Given the description of an element on the screen output the (x, y) to click on. 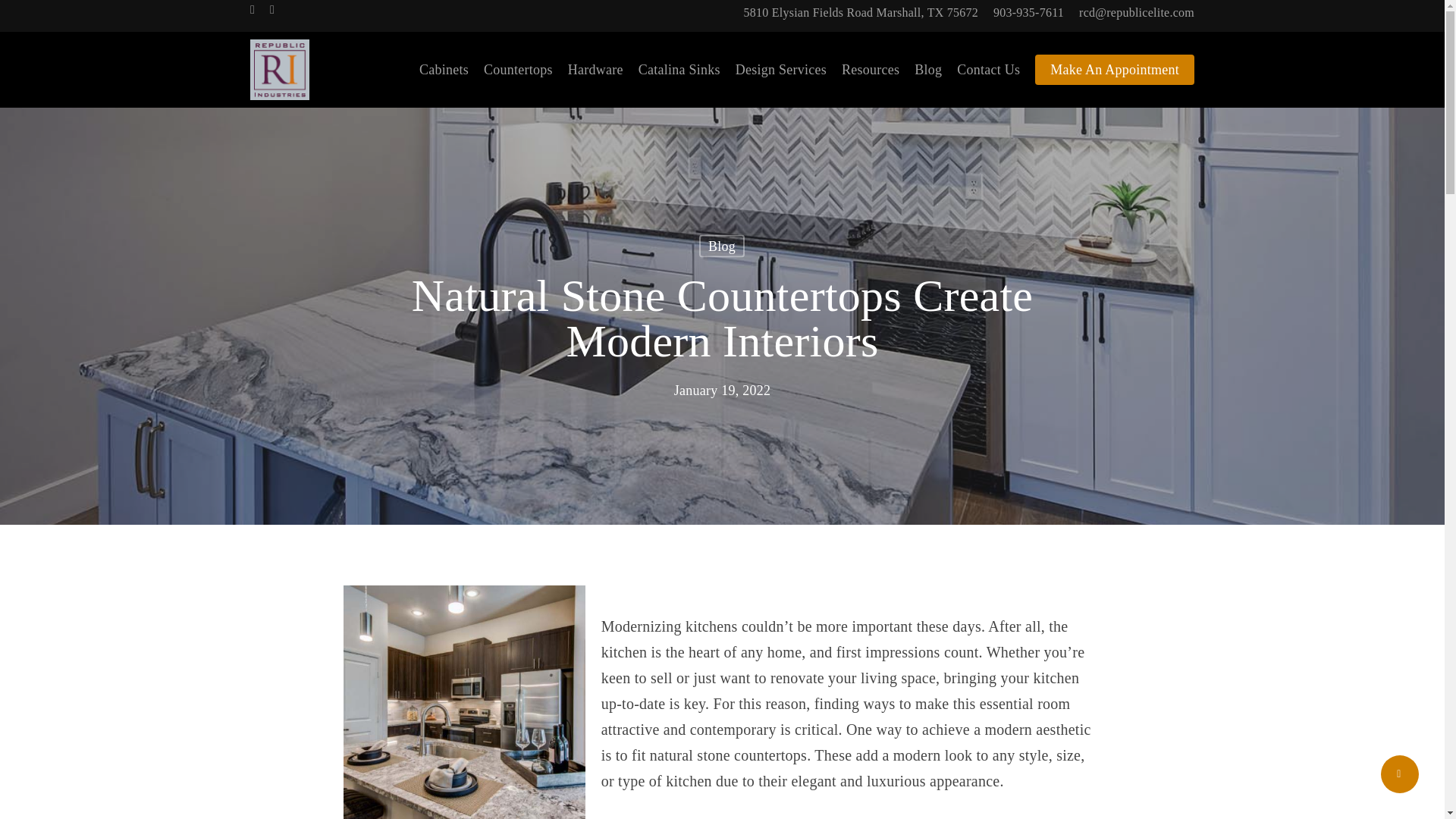
Design Services (781, 69)
5810 Elysian Fields Road Marshall, TX 75672 (860, 12)
903-935-7611 (1028, 12)
Blog (928, 69)
Make An Appointment (1114, 69)
Contact Us (988, 69)
Cabinets (443, 69)
Countertops (518, 69)
Hardware (595, 69)
Resources (870, 69)
Blog (721, 246)
Catalina Sinks (679, 69)
